Given the description of an element on the screen output the (x, y) to click on. 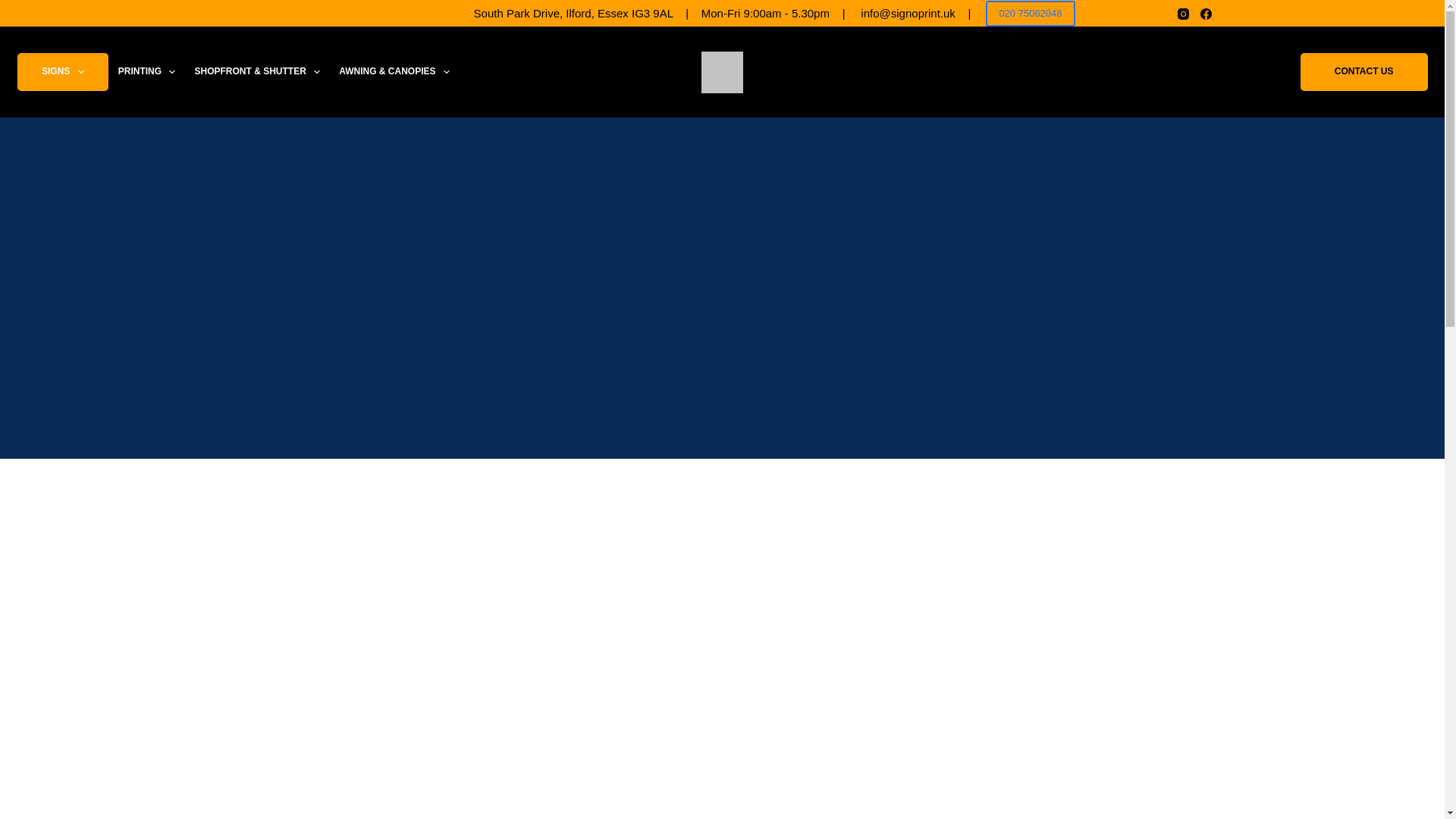
Skip to content (15, 7)
020 75062048 (1029, 13)
SIGNS (62, 71)
